Given the description of an element on the screen output the (x, y) to click on. 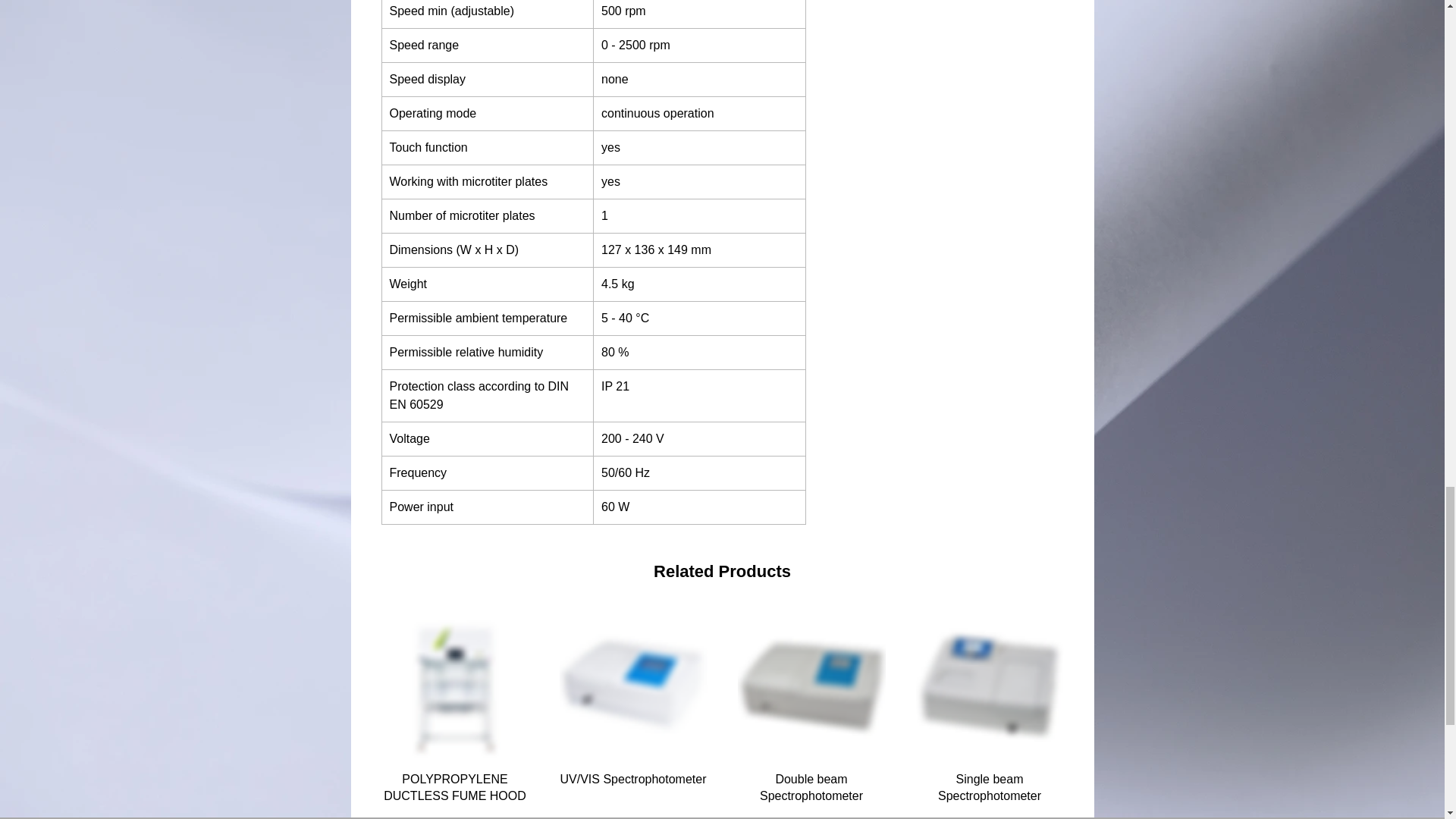
Single beam Spectrophotometer (989, 788)
Double beam Spectrophotometer (810, 788)
POLYPROPYLENE DUCTLESS FUME HOOD (454, 788)
